Given the description of an element on the screen output the (x, y) to click on. 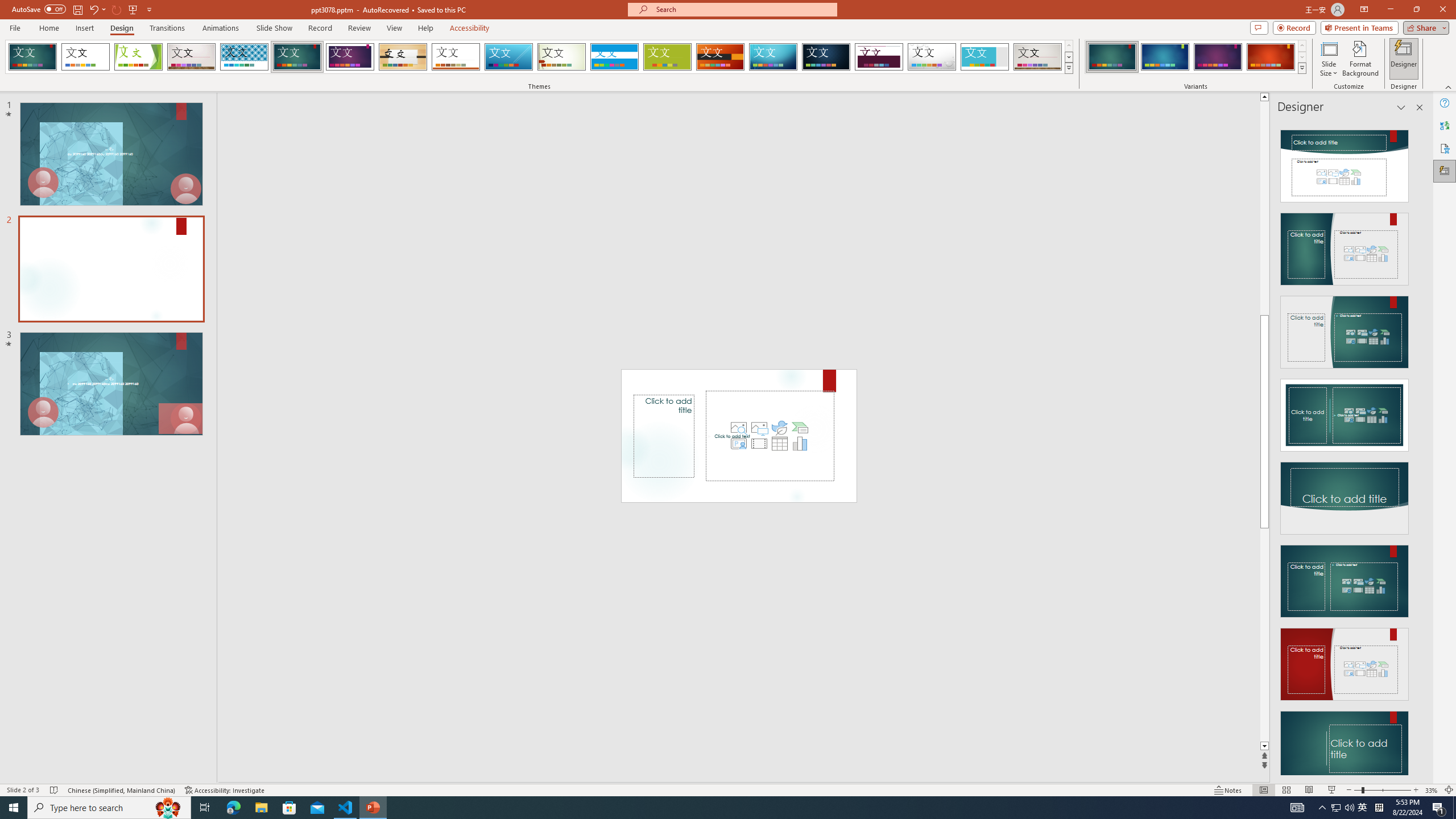
Organic (403, 56)
Pictures (758, 427)
Content Placeholder (770, 435)
Dividend (879, 56)
Themes (1068, 67)
Ion Variant 2 (1164, 56)
